Given the description of an element on the screen output the (x, y) to click on. 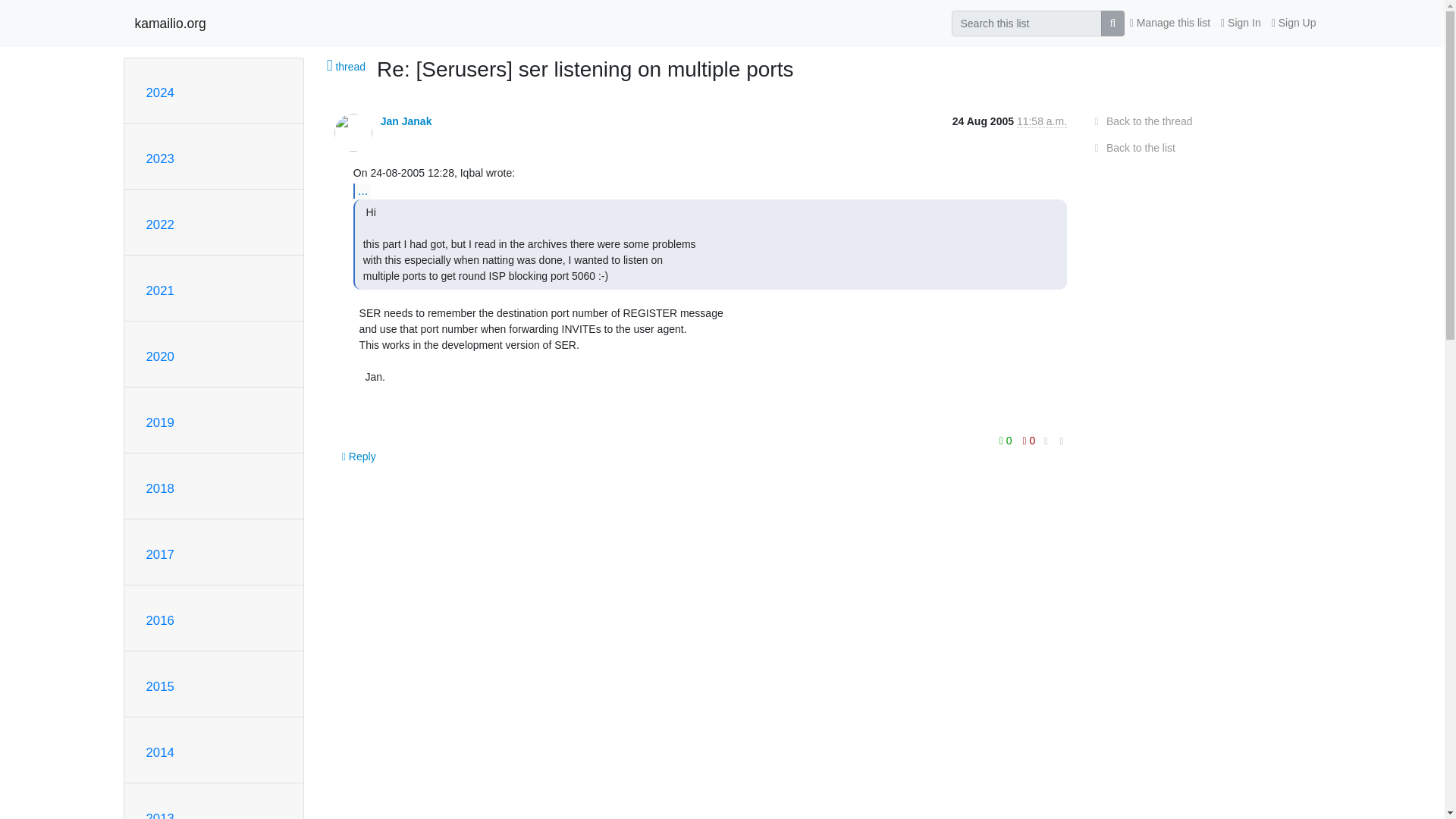
2024 (159, 92)
Sender's time: Aug. 24, 2005, 1:58 p.m. (1041, 121)
Sign Up (1294, 22)
2022 (159, 224)
You must be logged-in to vote. (1029, 440)
Sign in to reply online (359, 456)
2023 (159, 158)
See the profile for Jan Janak (406, 121)
kamailio.org (170, 22)
Manage this list (1169, 22)
Sign In (1240, 22)
You must be logged-in to vote. (1007, 440)
